Given the description of an element on the screen output the (x, y) to click on. 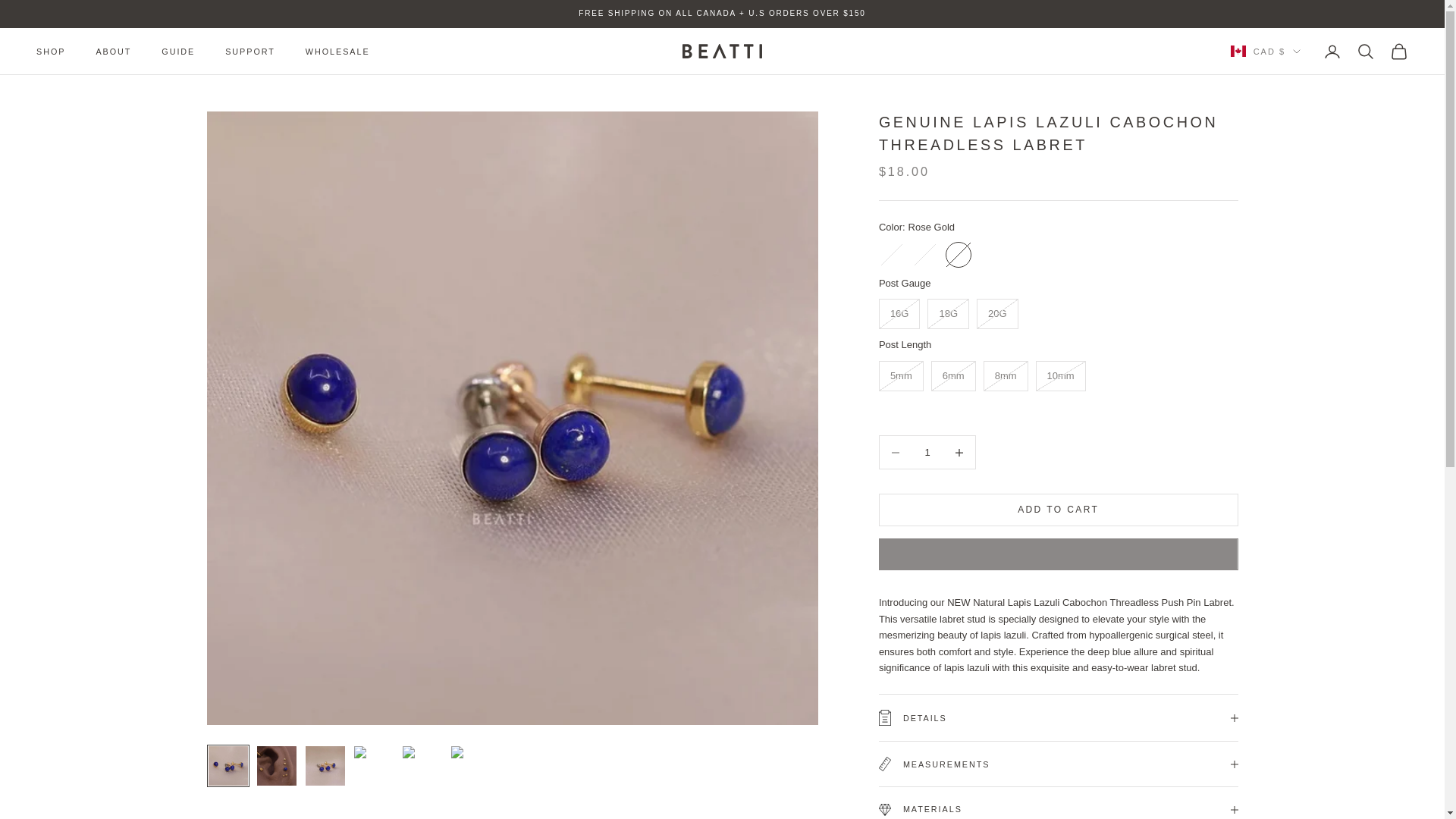
BEATTI (721, 51)
1 (927, 451)
